Given the description of an element on the screen output the (x, y) to click on. 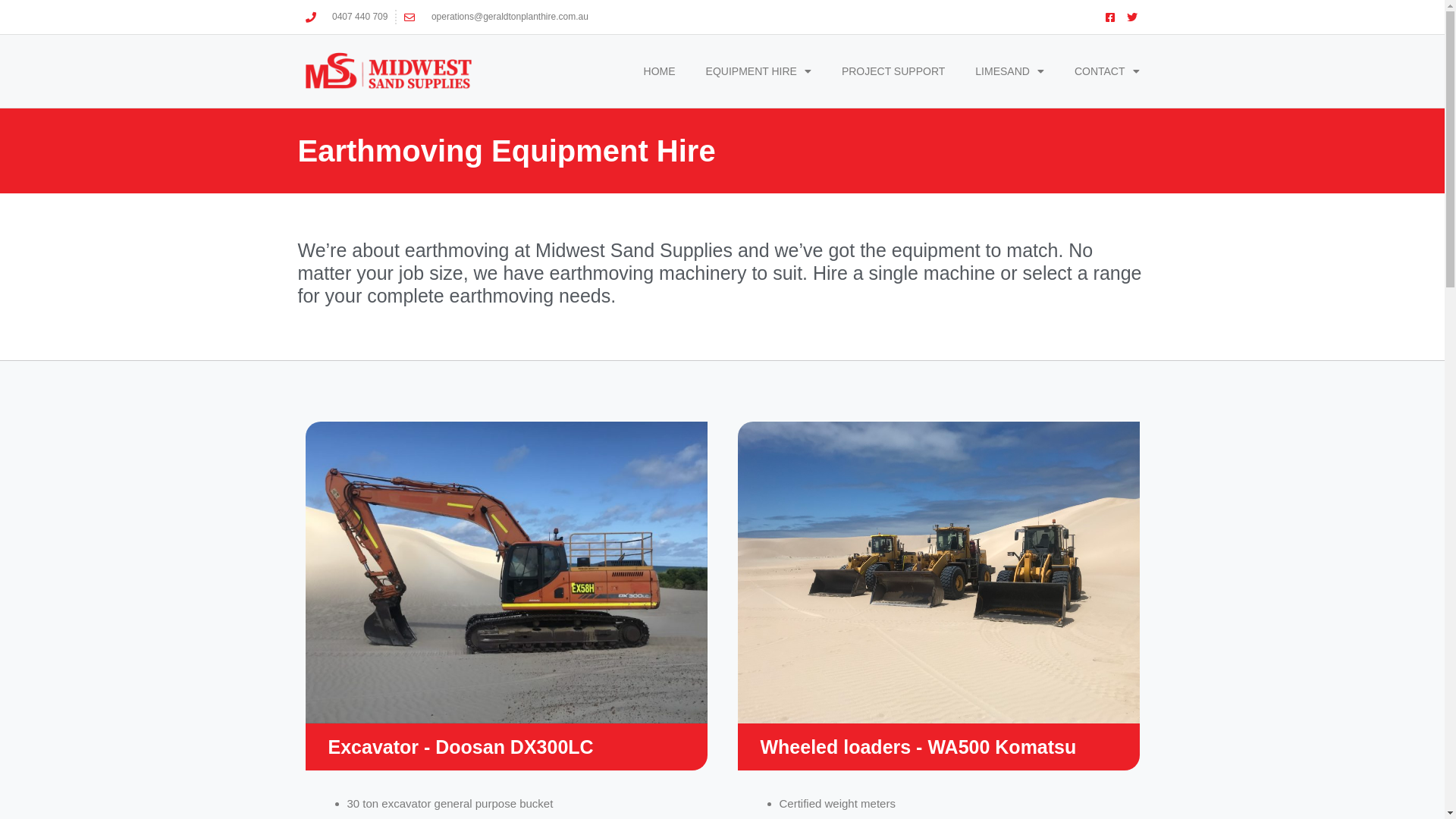
PROJECT SUPPORT Element type: text (893, 70)
CONTACT Element type: text (1106, 70)
HOME Element type: text (659, 70)
EQUIPMENT HIRE Element type: text (758, 70)
operations@geraldtonplanthire.com.au Element type: text (495, 16)
LIMESAND Element type: text (1009, 70)
